Given the description of an element on the screen output the (x, y) to click on. 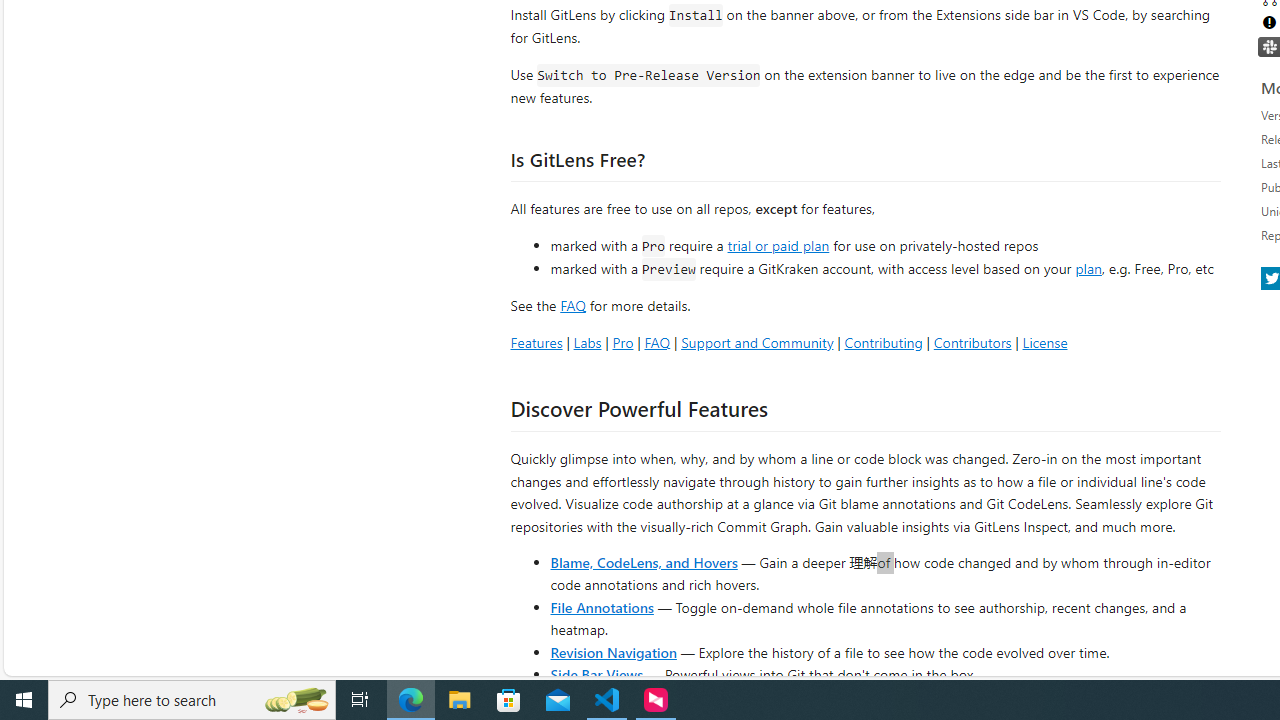
Contributors (972, 341)
Blame, CodeLens, and Hovers (644, 561)
File Annotations (602, 606)
